Given the description of an element on the screen output the (x, y) to click on. 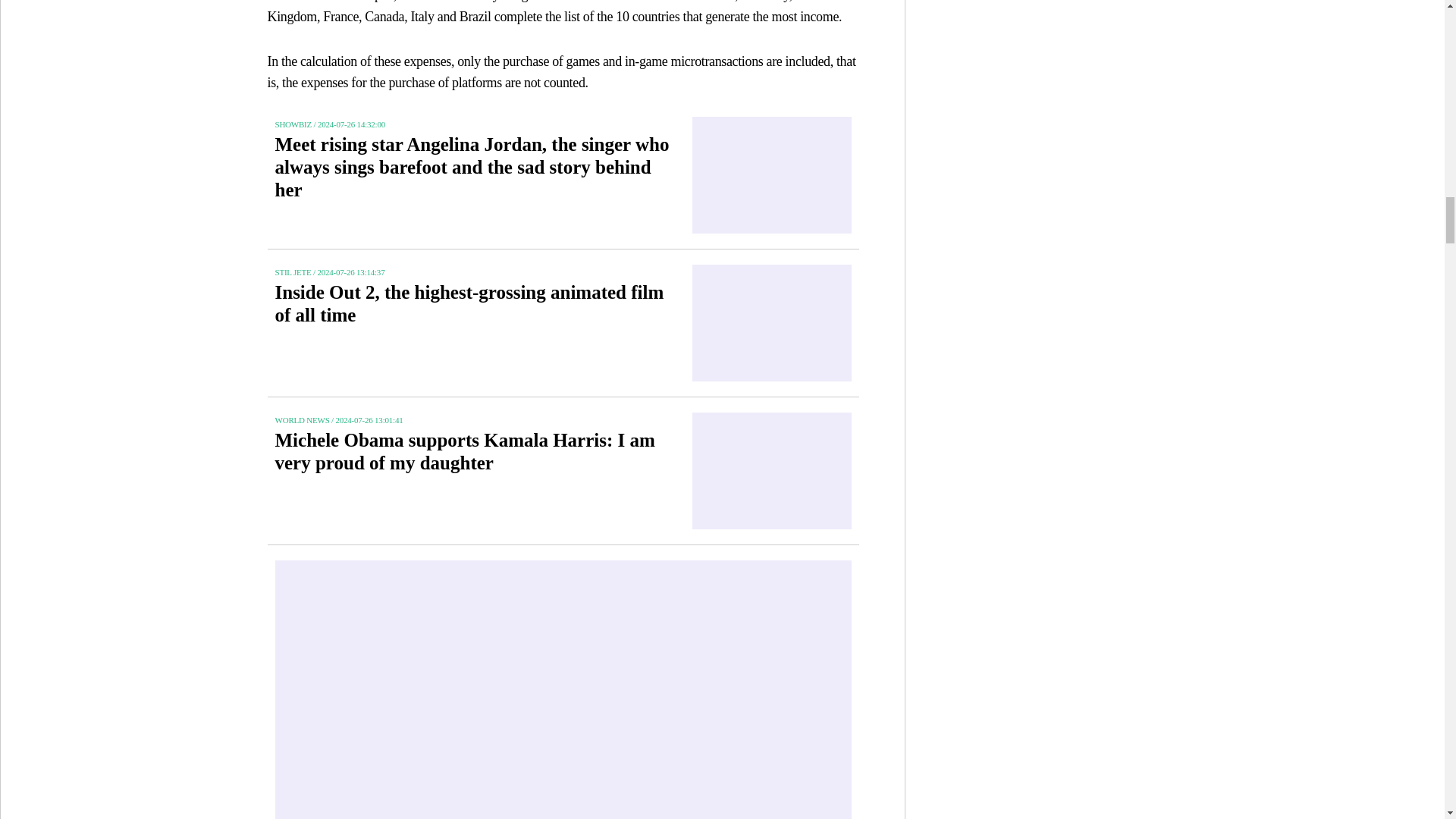
Inside Out 2, the highest-grossing animated film of all time (471, 312)
